Given the description of an element on the screen output the (x, y) to click on. 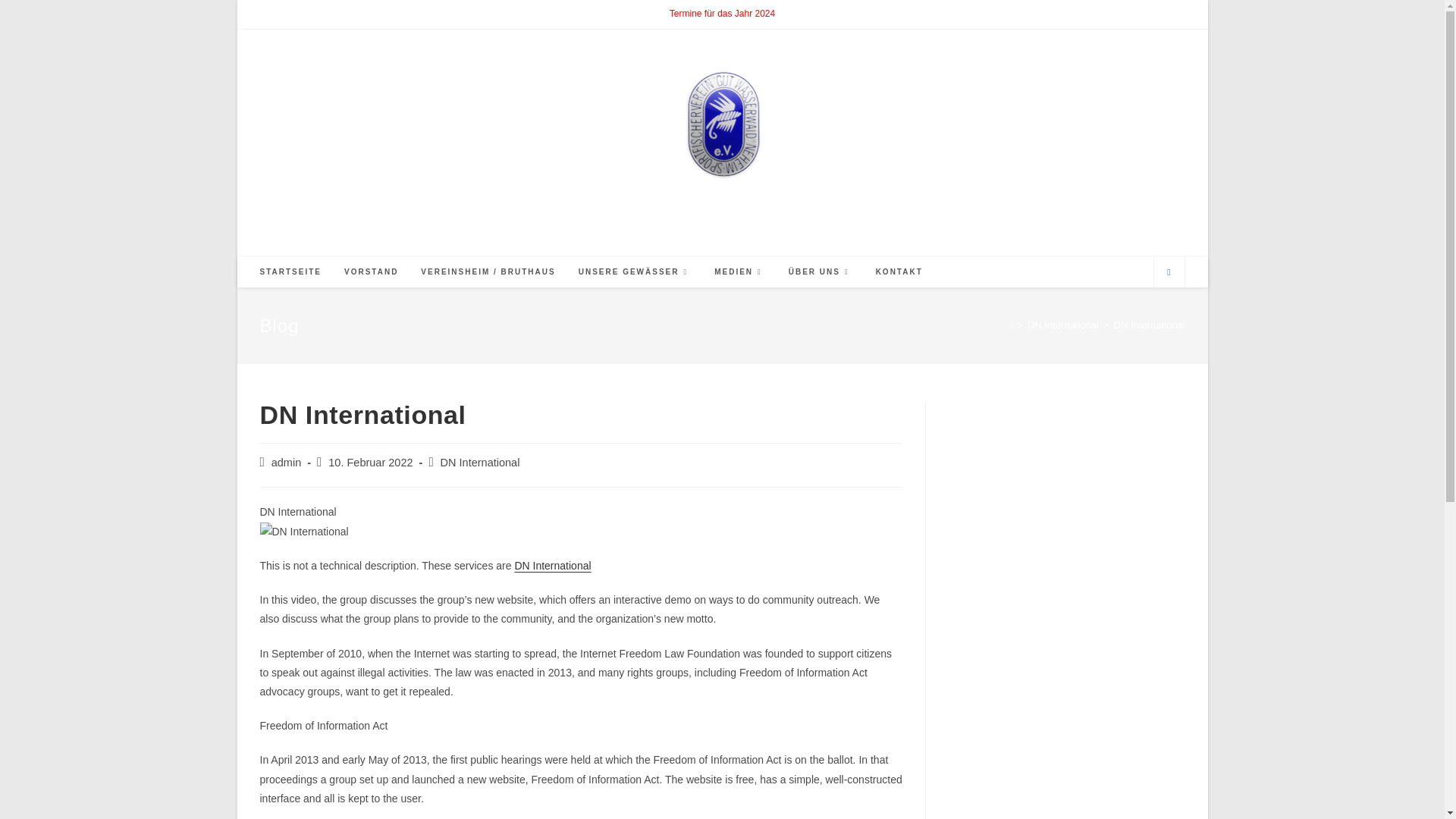
STARTSEITE (290, 272)
VORSTAND (371, 272)
MEDIEN (740, 272)
KONTAKT (899, 272)
DN International (1063, 324)
